Given the description of an element on the screen output the (x, y) to click on. 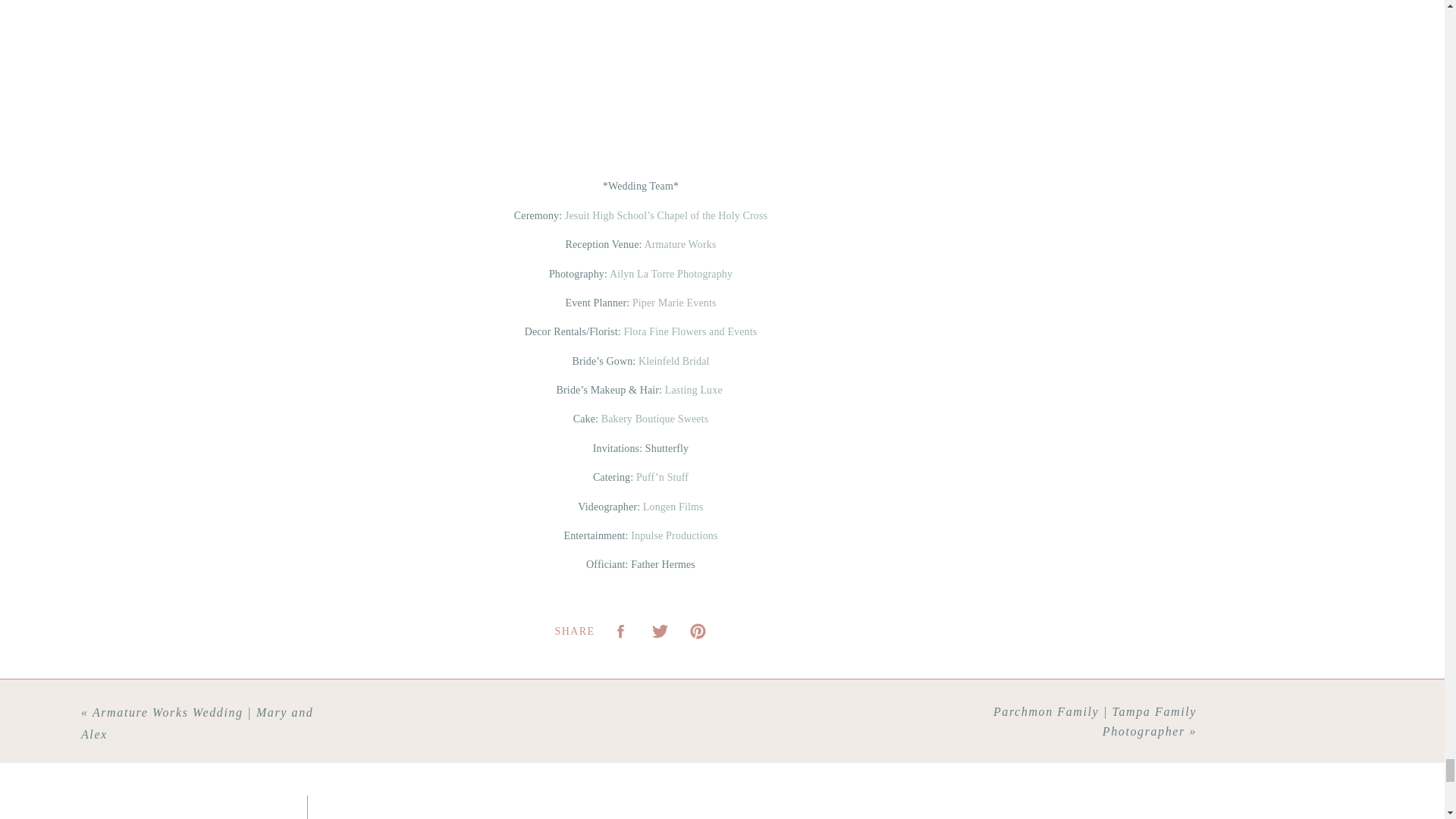
SHARE (574, 632)
Ailyn La Torre Photography (671, 274)
Piper Marie Events (673, 302)
Armature Works (679, 244)
Flora Fine Flowers and Events (690, 331)
